Given the description of an element on the screen output the (x, y) to click on. 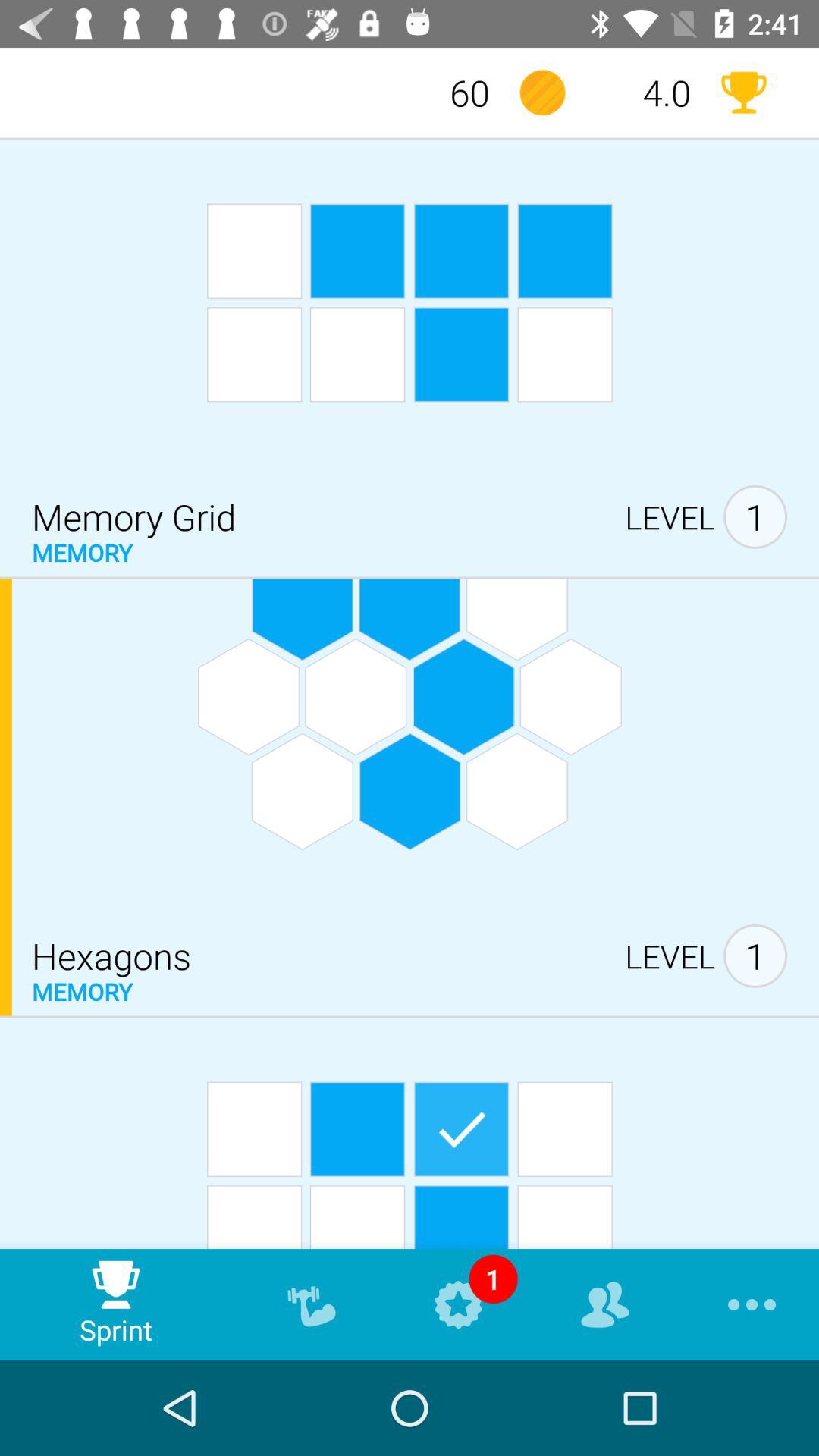
choose the item next to the 60 (542, 92)
